Given the description of an element on the screen output the (x, y) to click on. 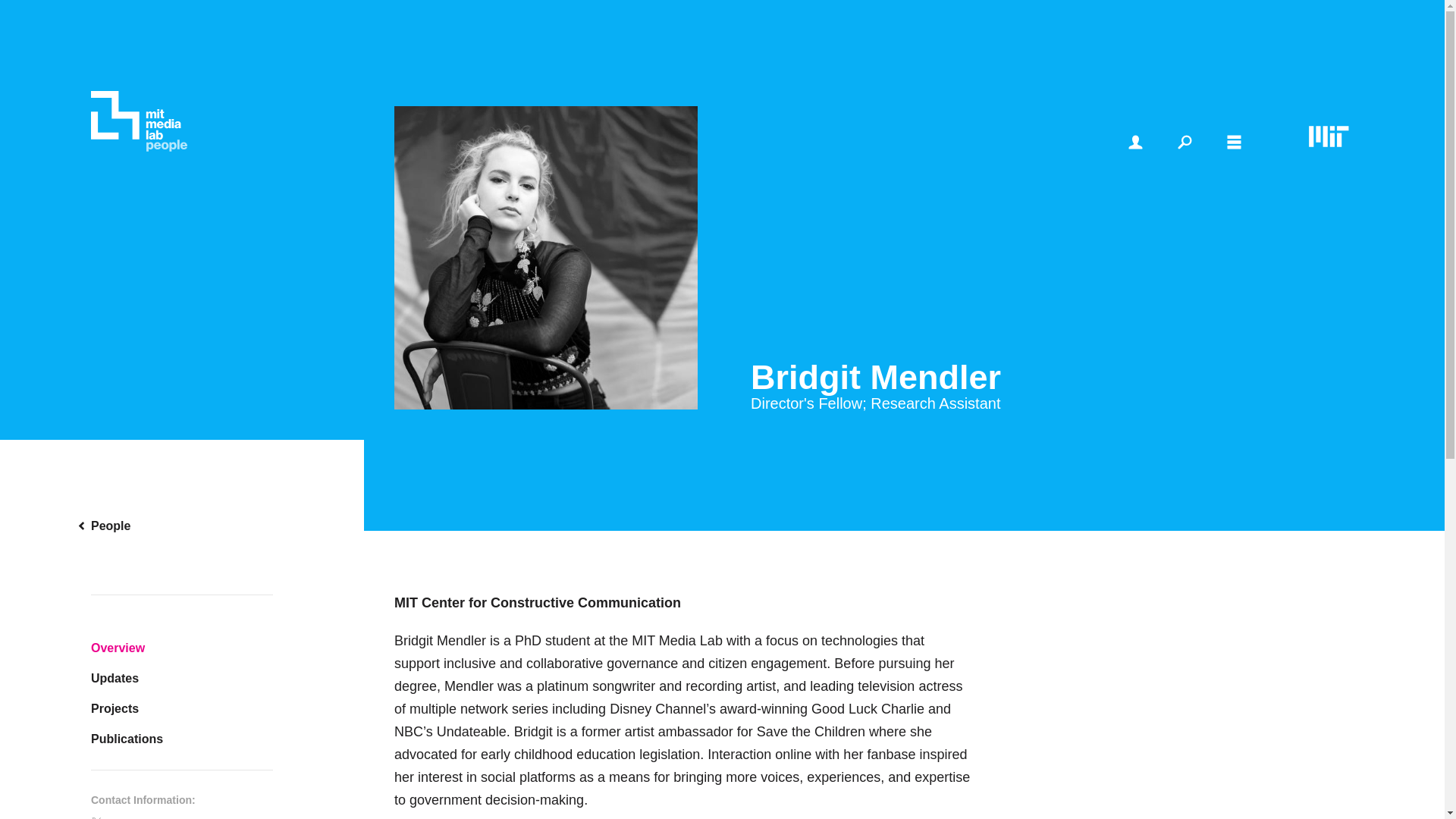
Projects (181, 708)
Overview (181, 648)
Publications (181, 739)
Updates (181, 678)
People (181, 525)
